Given the description of an element on the screen output the (x, y) to click on. 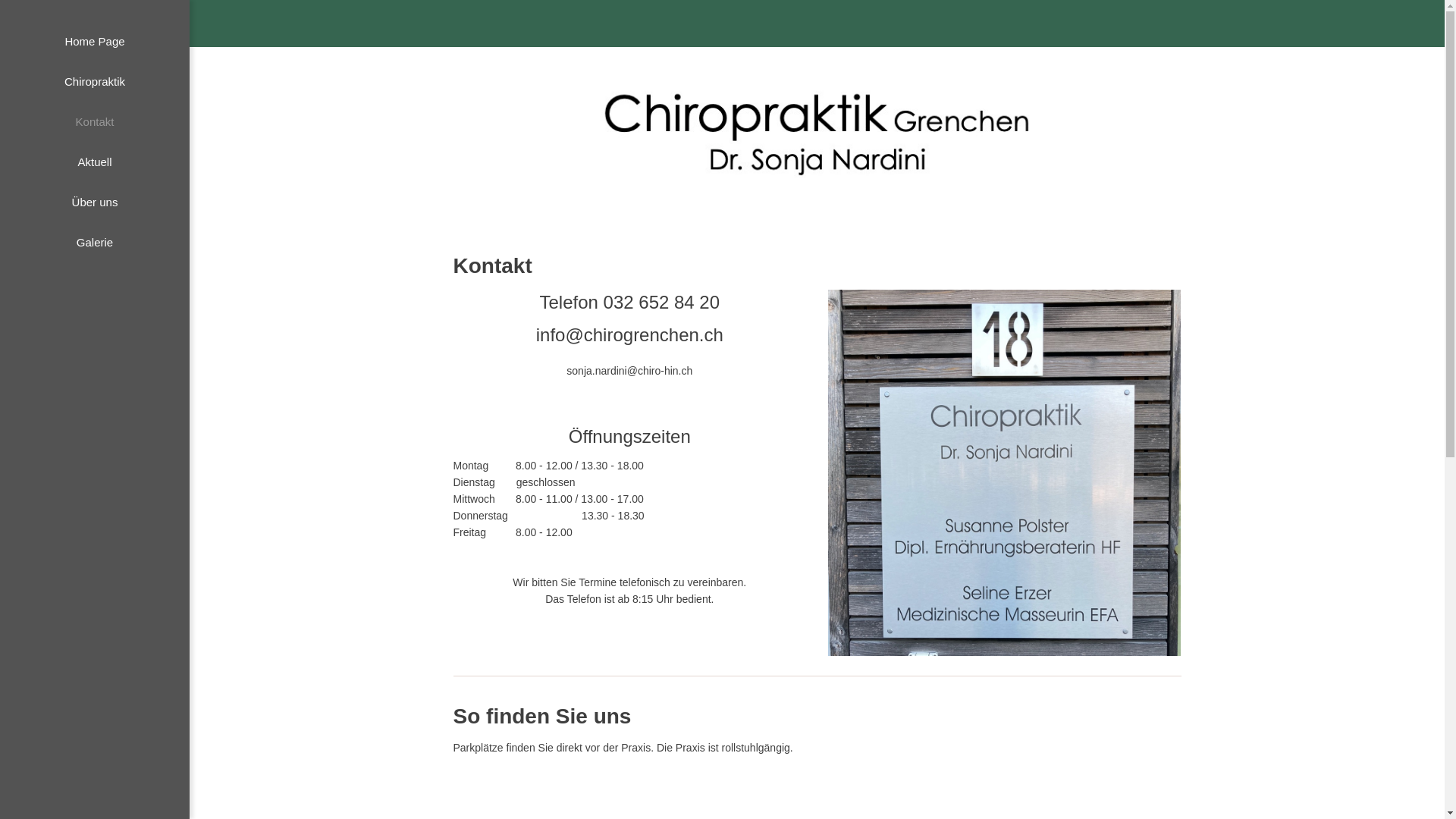
Home Page Element type: text (94, 41)
Aktuell Element type: text (94, 161)
Chiropraktik Element type: text (94, 81)
Galerie Element type: text (94, 242)
Kontakt Element type: text (94, 121)
